Given the description of an element on the screen output the (x, y) to click on. 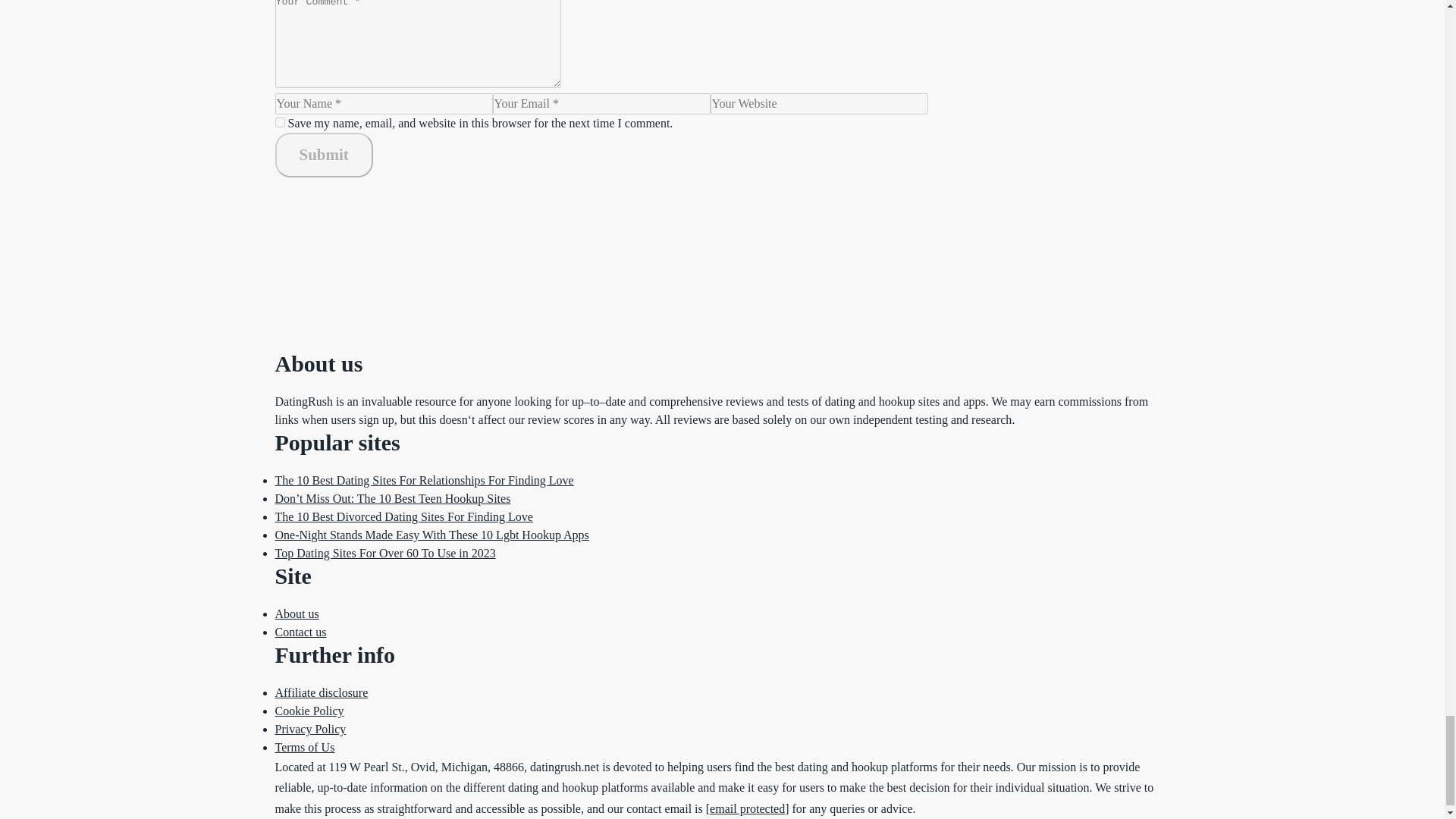
Submit (323, 154)
yes (279, 122)
